Given the description of an element on the screen output the (x, y) to click on. 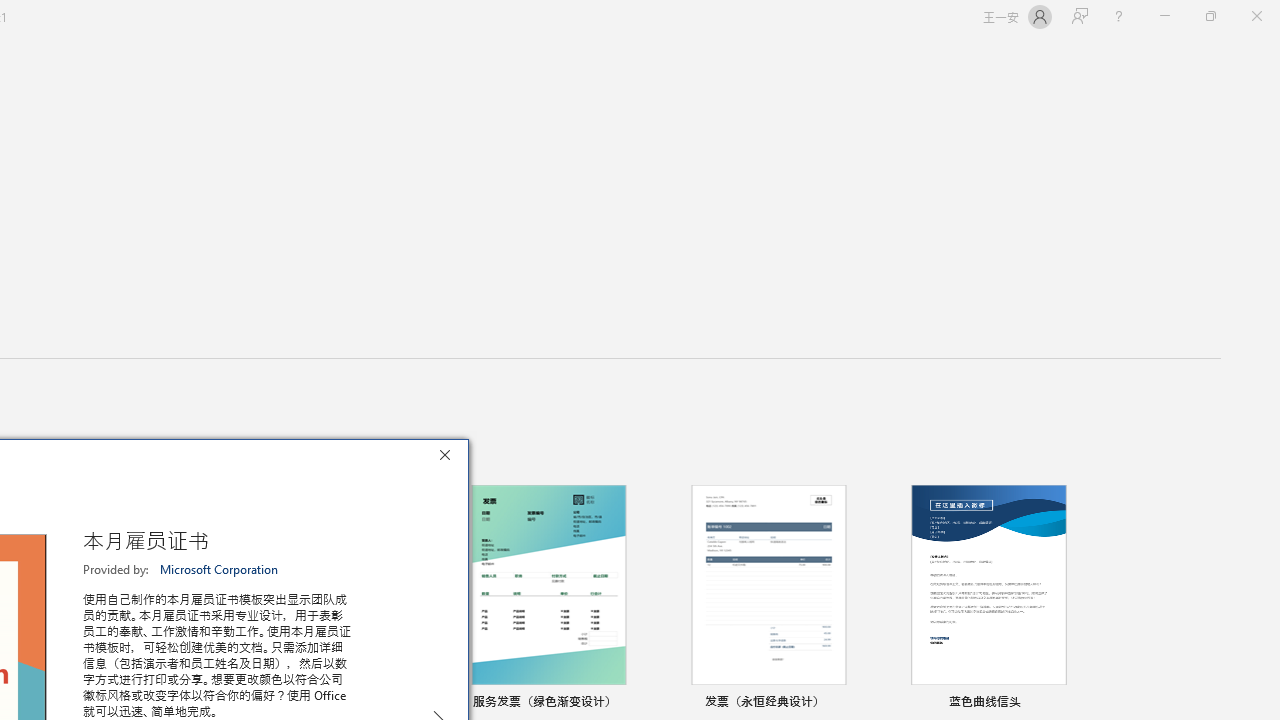
Microsoft Corporation (220, 569)
Pin to list (1075, 703)
